Given the description of an element on the screen output the (x, y) to click on. 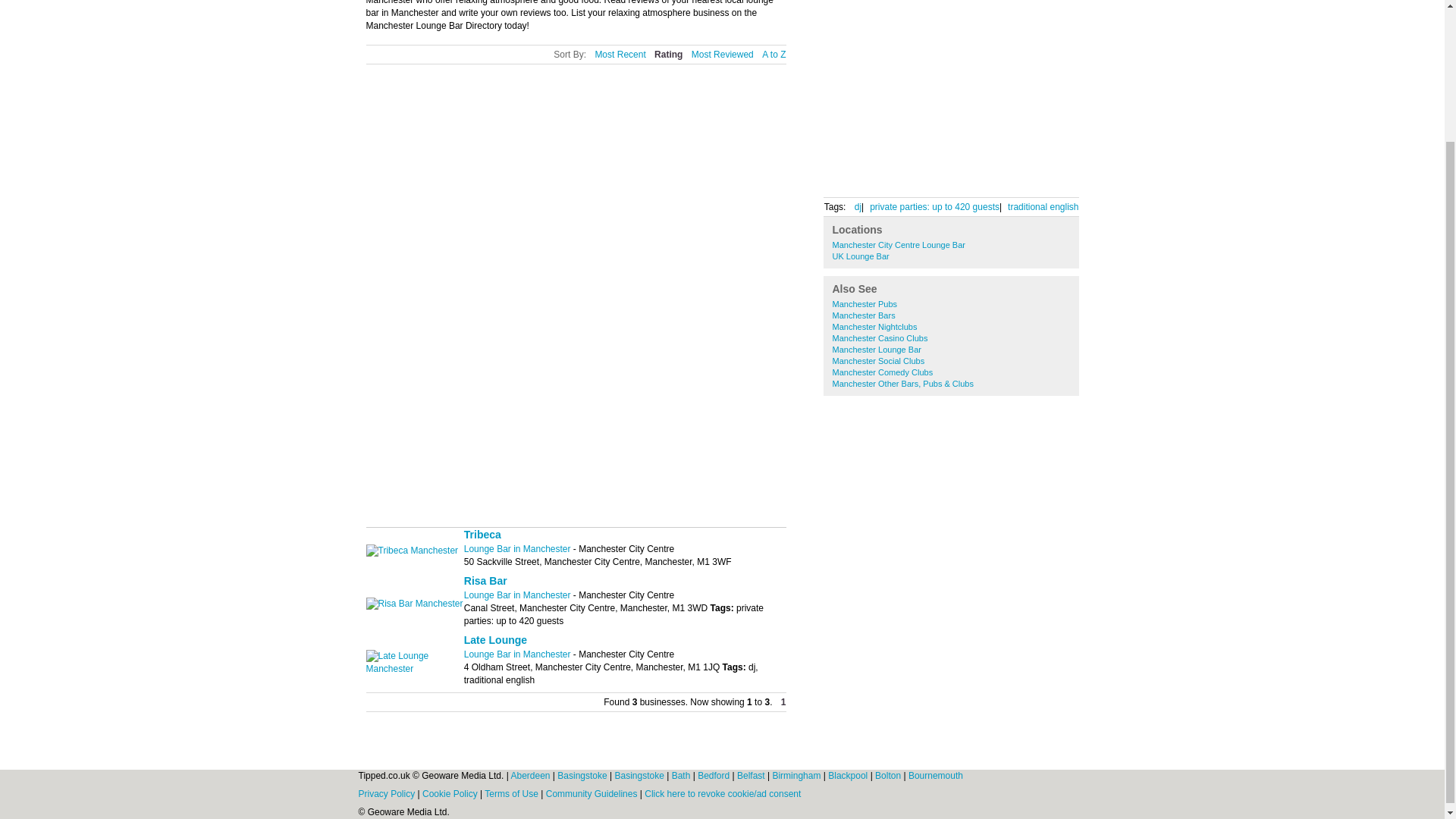
Aberdeen (531, 775)
Tribeca (482, 534)
Businesses in Basingstoke (640, 775)
Lounge Bar in Manchester (518, 548)
Businesses in Basingstoke (583, 775)
Businesses in Belfast (751, 775)
A to Z (773, 54)
Manchester Casino Clubs (880, 338)
Businesses in Birmingham (796, 775)
Tribeca - Lounge Bar in Manchester (411, 550)
